Given the description of an element on the screen output the (x, y) to click on. 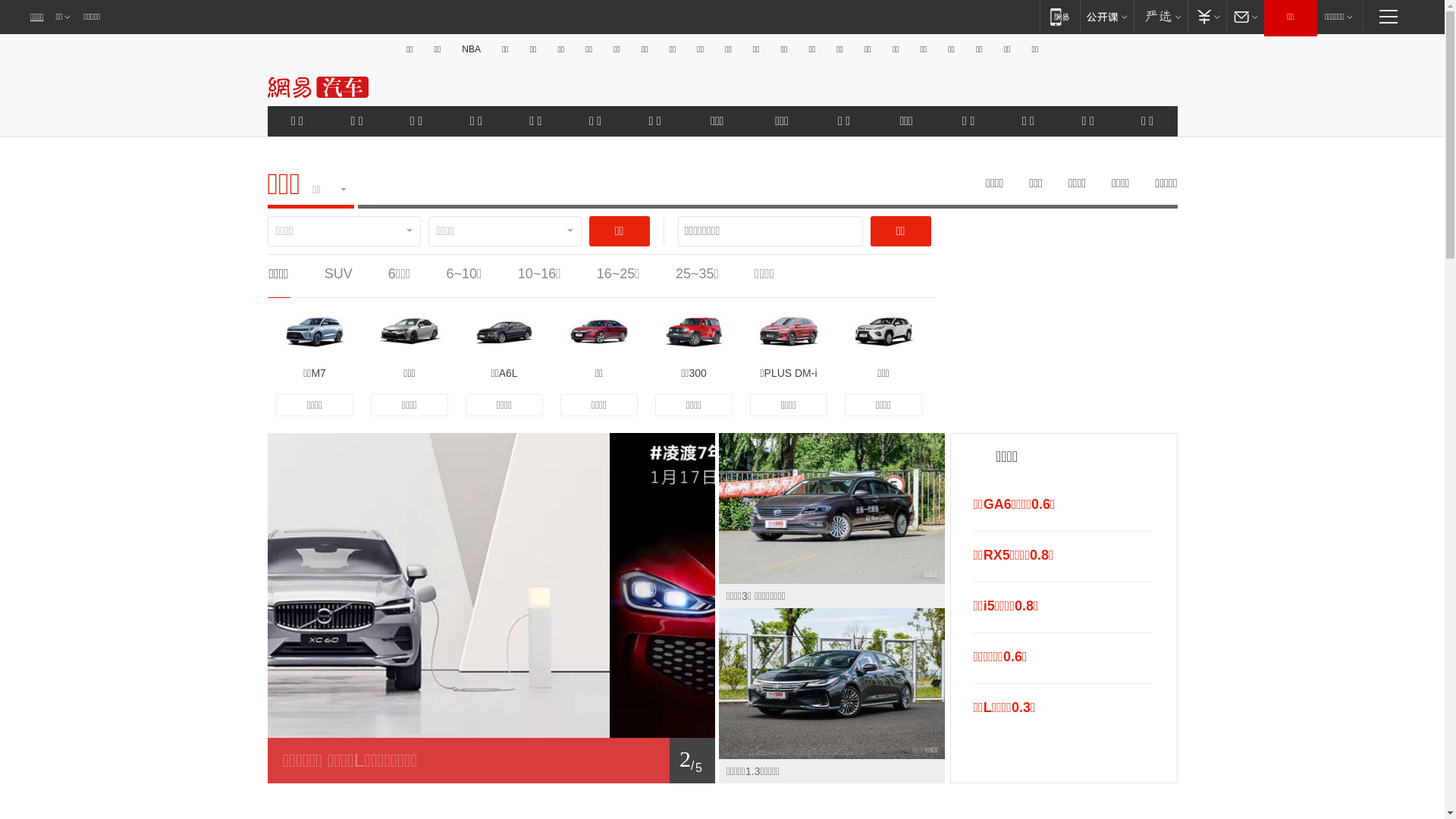
1/ 5 Element type: text (490, 760)
SUV Element type: text (338, 273)
NBA Element type: text (471, 48)
